Given the description of an element on the screen output the (x, y) to click on. 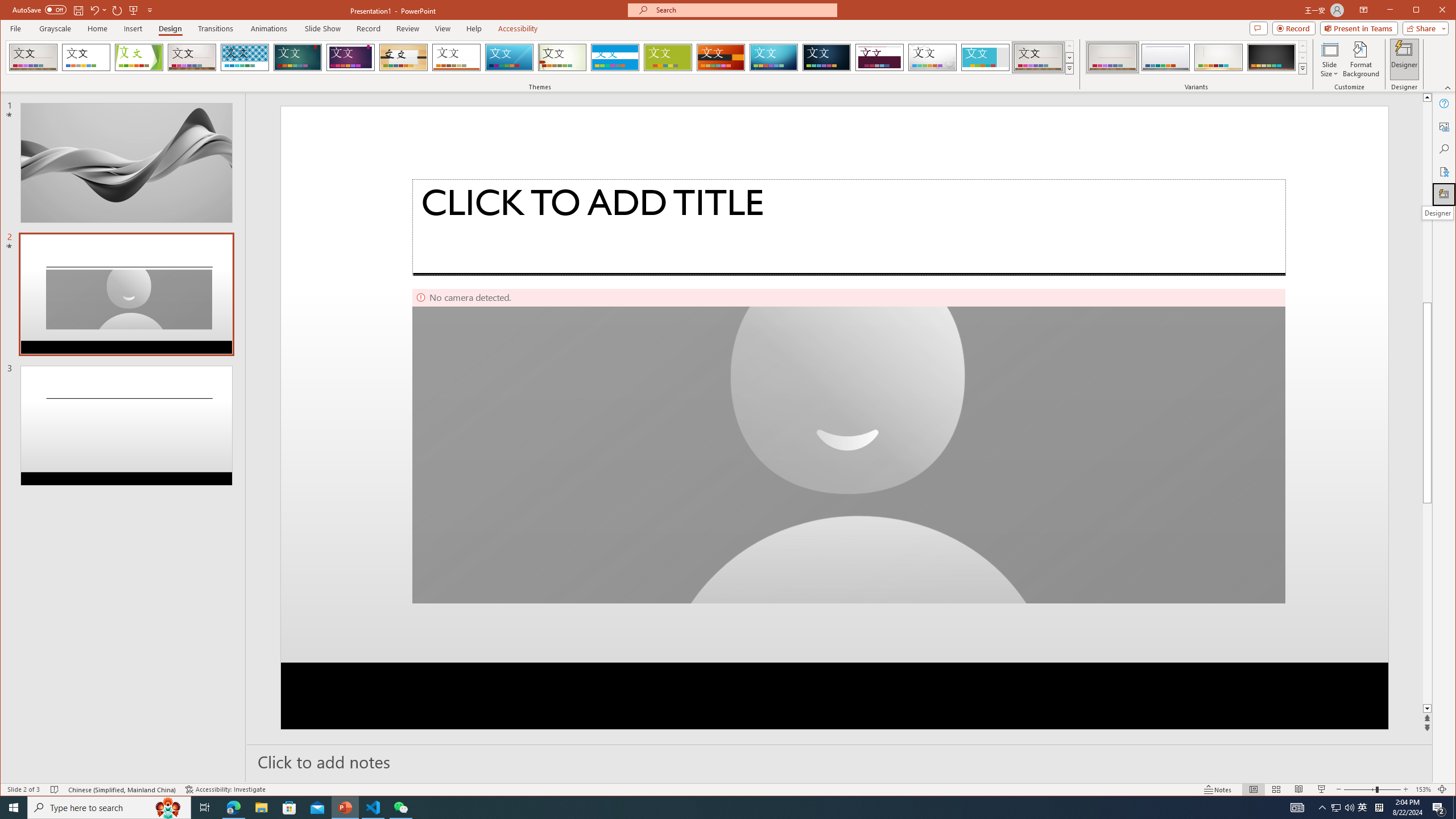
Microsoft Edge - 1 running window (233, 807)
Slide Size (1328, 59)
Maximize (1432, 11)
Gallery Variant 2 (1165, 57)
Title TextBox (848, 227)
Circuit (773, 57)
Frame (985, 57)
